Given the description of an element on the screen output the (x, y) to click on. 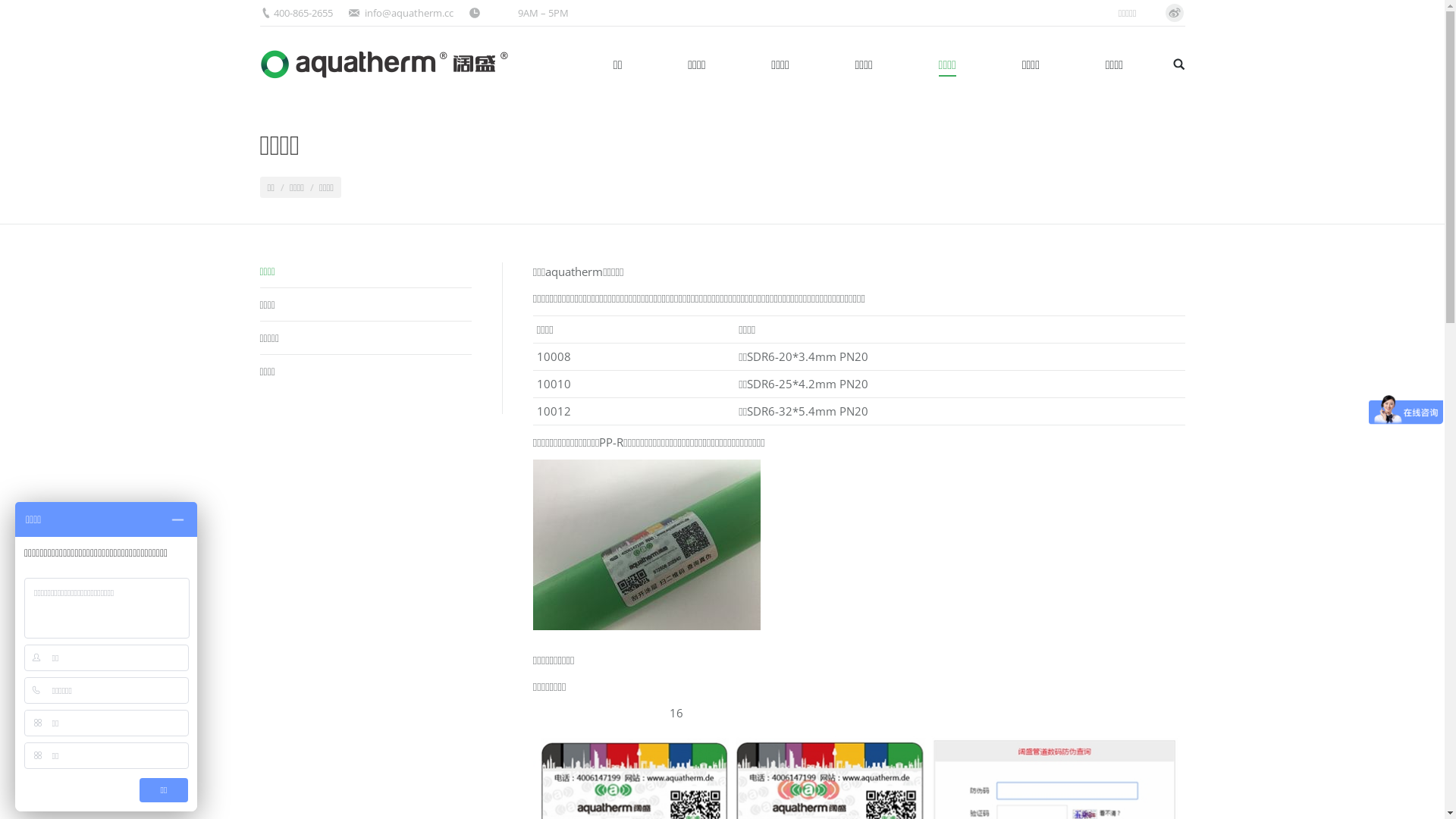
Weibo Element type: hover (1173, 12)
  Element type: text (1178, 64)
Go! Element type: text (19, 15)
